Given the description of an element on the screen output the (x, y) to click on. 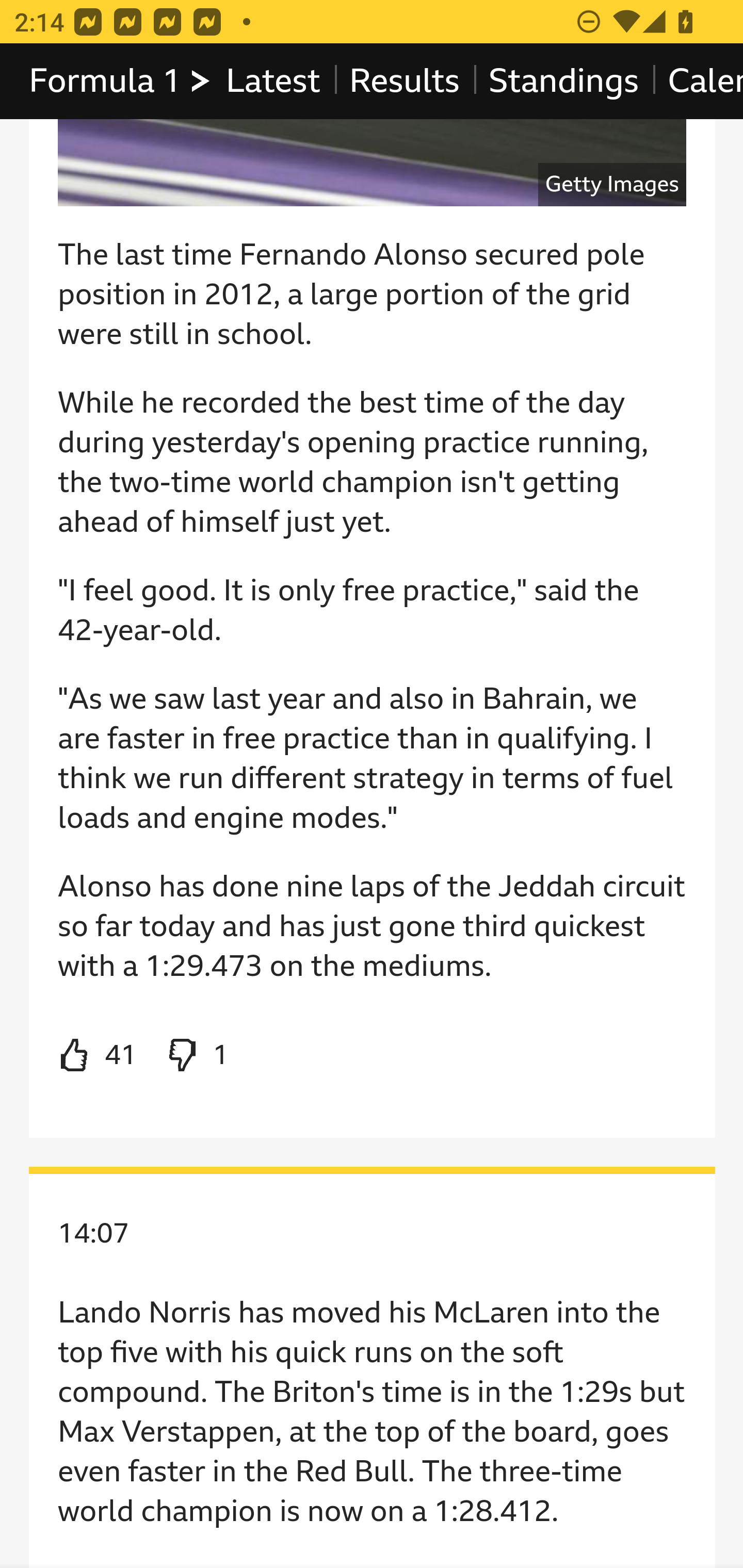
Like (97, 1056)
Dislike (196, 1056)
